Given the description of an element on the screen output the (x, y) to click on. 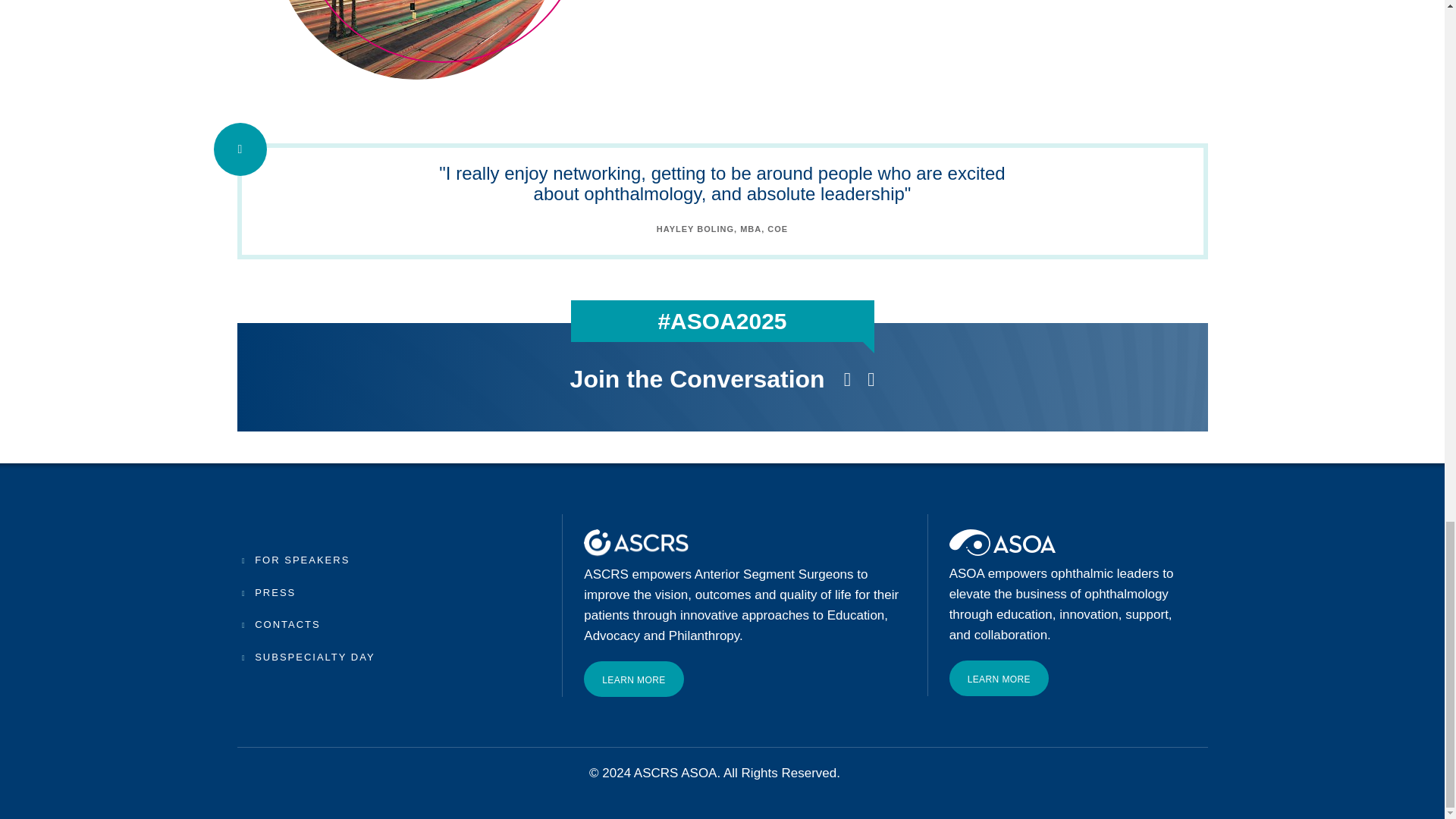
CONTACTS (280, 624)
PRESS (268, 592)
SUBSPECIALTY DAY (308, 656)
FOR SPEAKERS (295, 560)
